Given the description of an element on the screen output the (x, y) to click on. 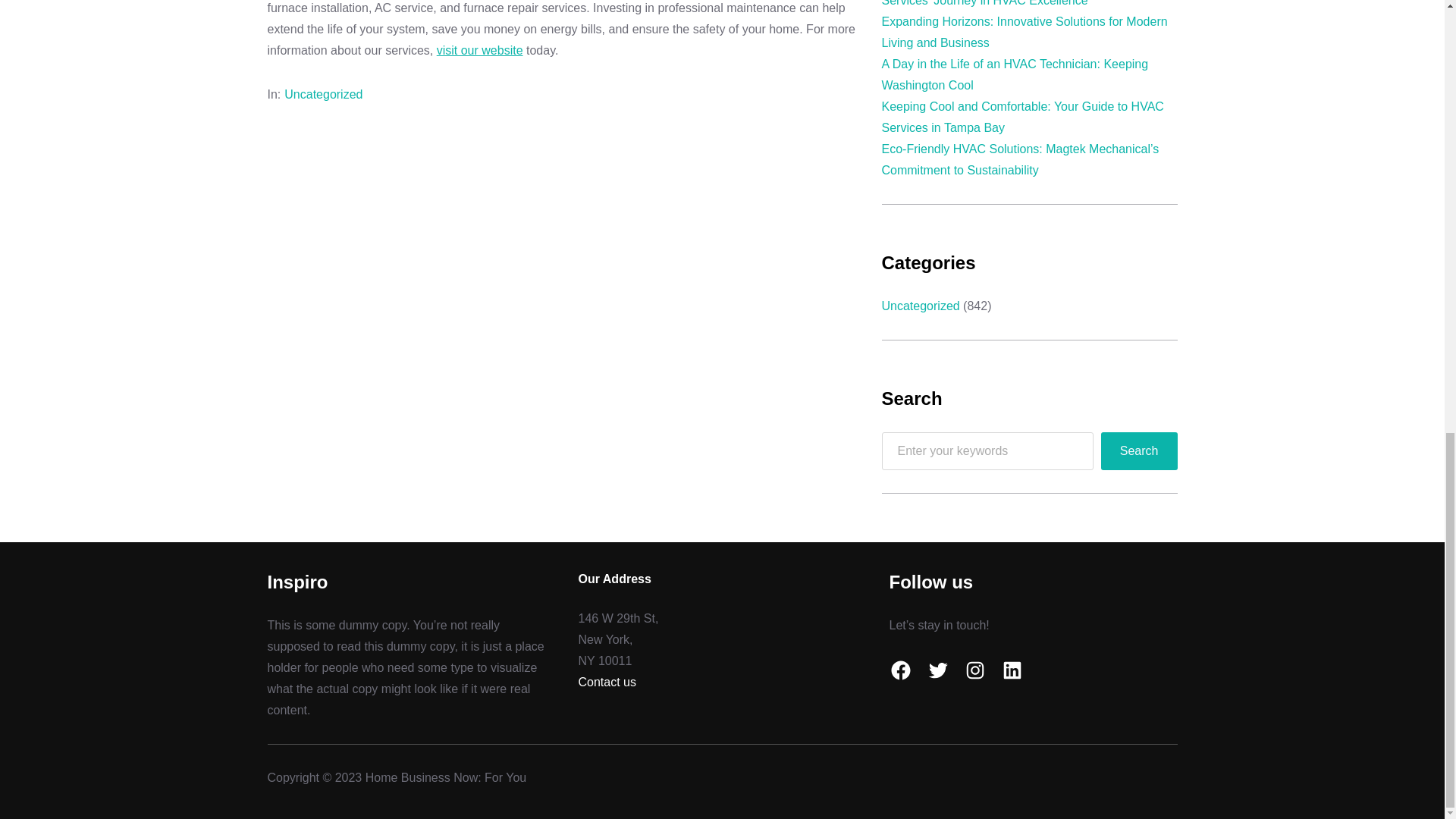
Instagram (973, 670)
LinkedIn (1012, 670)
Uncategorized (919, 305)
Uncategorized (322, 93)
Twitter (937, 670)
Facebook (899, 670)
Contact us (606, 681)
Search (1138, 451)
visit our website (479, 50)
